Given the description of an element on the screen output the (x, y) to click on. 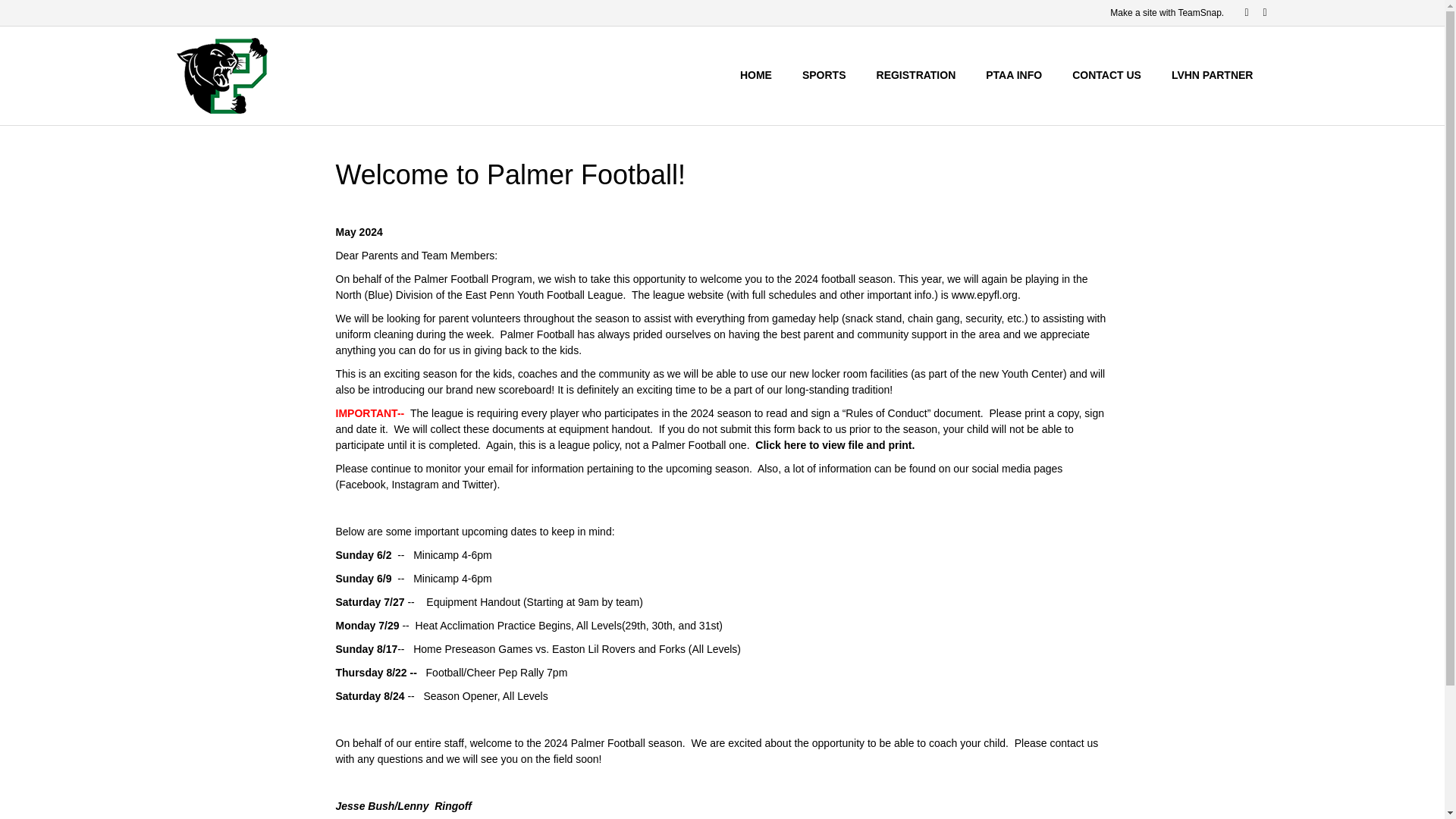
Twitter (1256, 11)
Make a site with TeamSnap. (1166, 12)
Facebook (1238, 11)
